Given the description of an element on the screen output the (x, y) to click on. 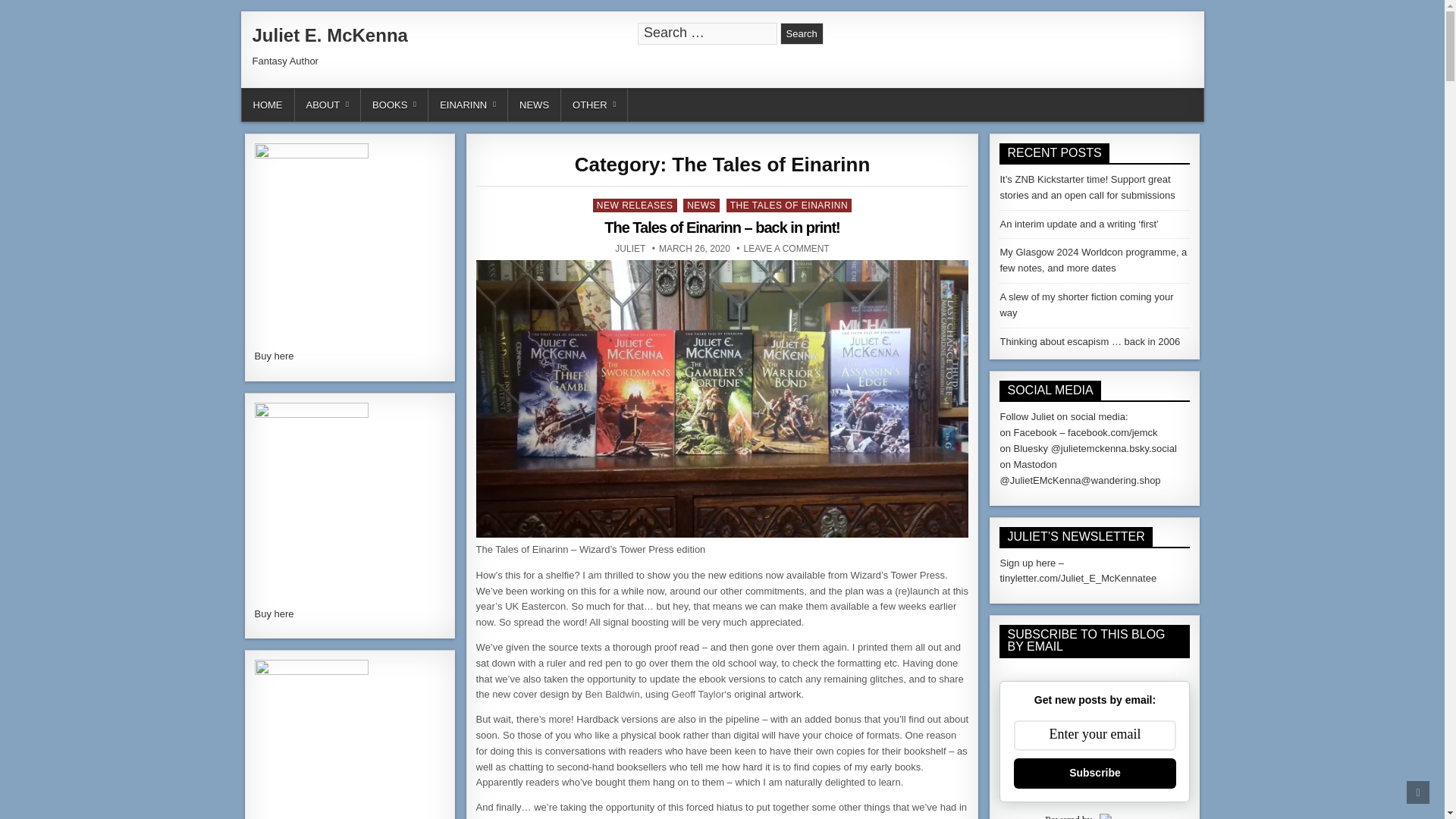
Search (802, 33)
Juliet E. McKenna (329, 35)
Search (802, 33)
ABOUT (327, 104)
Scroll to Top (1417, 792)
HOME (267, 104)
BOOKS (394, 104)
Search (802, 33)
